Given the description of an element on the screen output the (x, y) to click on. 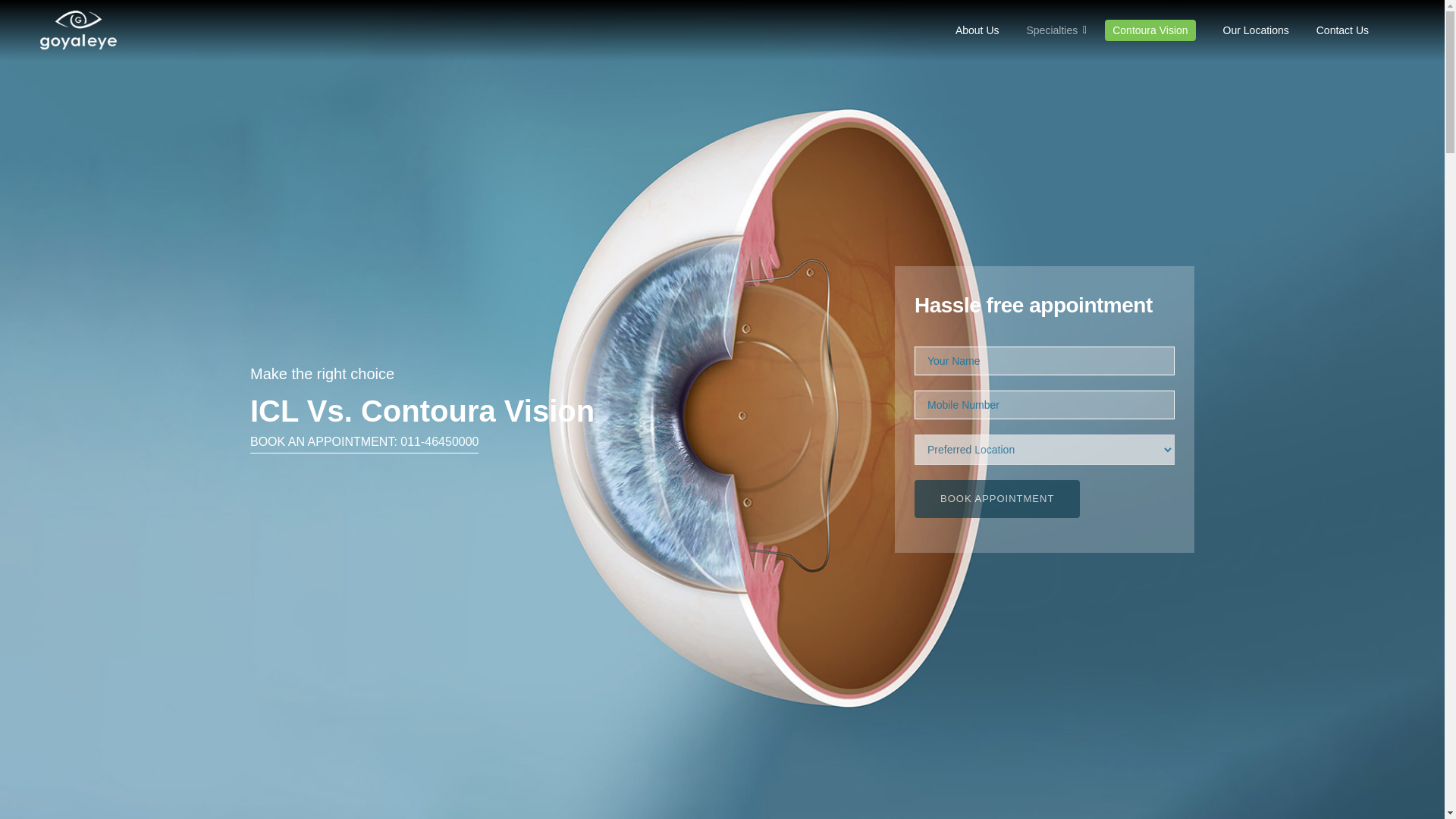
Contoura Vision (1150, 29)
011-46450000 (439, 440)
Best Eye Care Hospital in Delhi - Goyal Eye (78, 29)
Our Locations (1255, 30)
BOOK APPOINTMENT (997, 498)
